Given the description of an element on the screen output the (x, y) to click on. 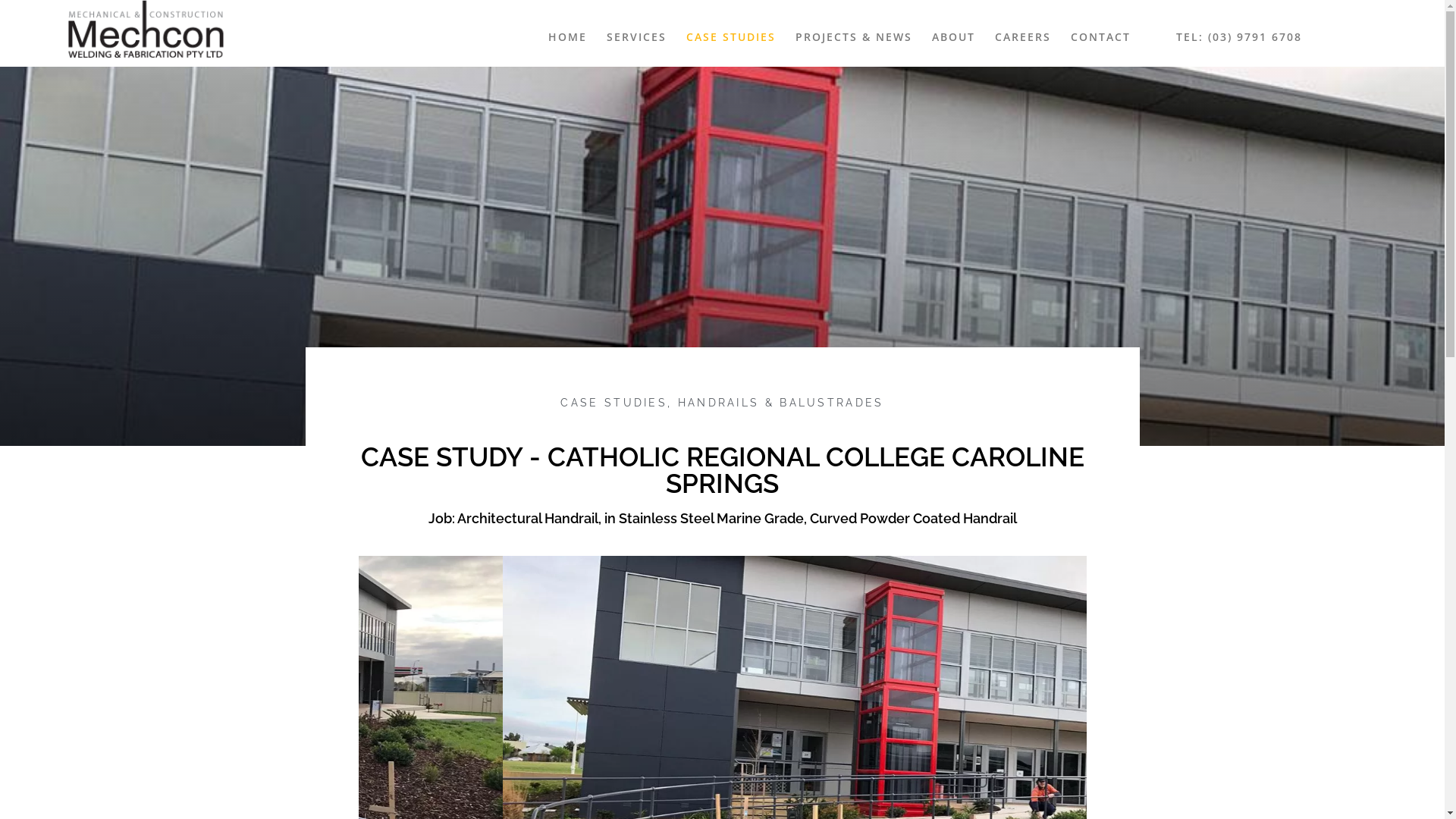
CASE STUDIES Element type: text (730, 36)
HOME Element type: text (567, 36)
TEL: (03) 9791 6708 Element type: text (1238, 36)
CAREERS Element type: text (1022, 36)
CONTACT Element type: text (1100, 36)
HANDRAILS & BALUSTRADES Element type: text (780, 402)
PROJECTS & NEWS Element type: text (853, 36)
SERVICES Element type: text (636, 36)
ABOUT Element type: text (953, 36)
CASE STUDIES Element type: text (613, 402)
